Given the description of an element on the screen output the (x, y) to click on. 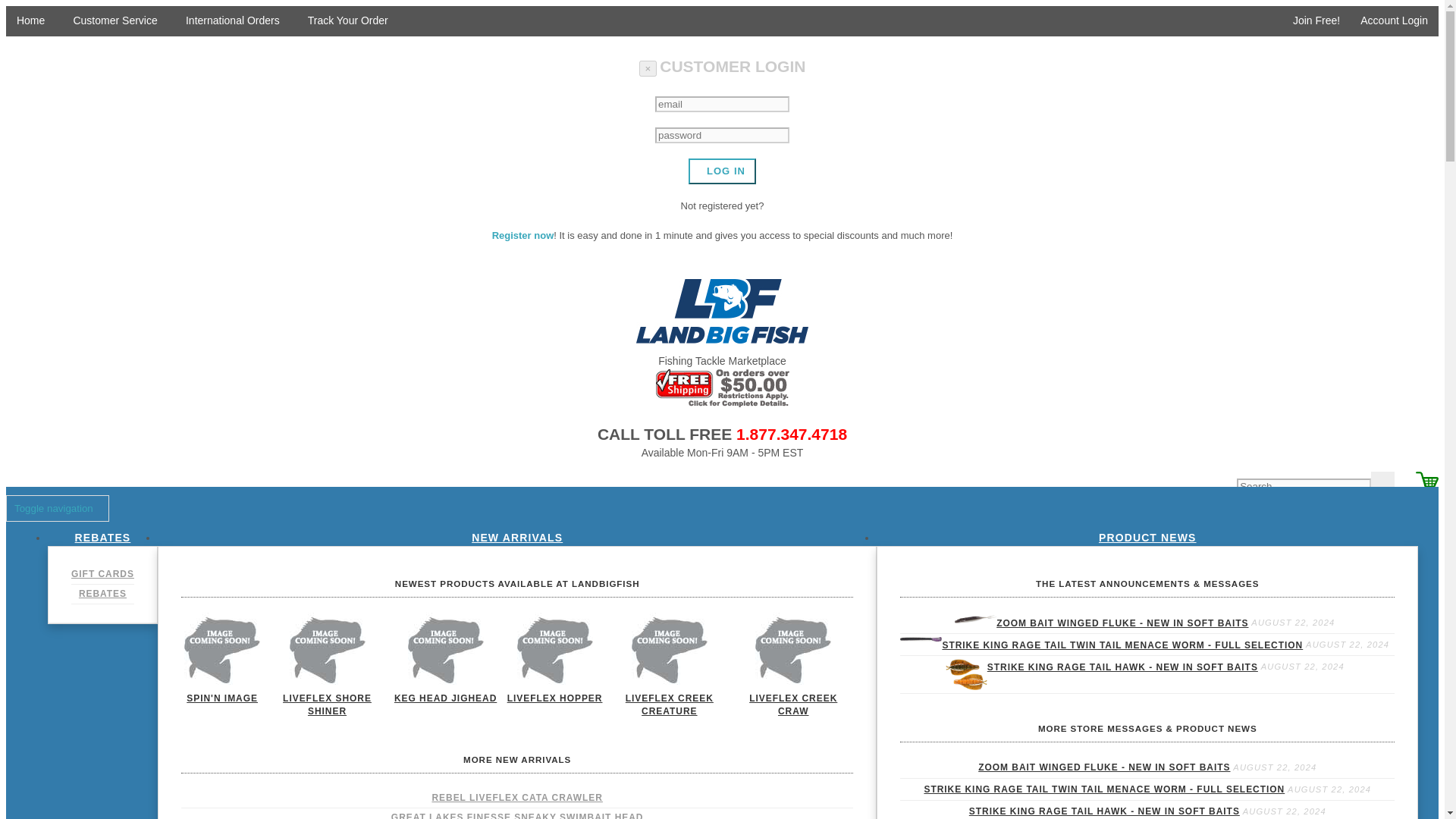
LIVEFLEX CREEK CRAW (793, 705)
LOG IN (721, 171)
Join Free (1310, 20)
International Orders (226, 20)
REBATES (102, 594)
GIFT CARDS (102, 574)
PRODUCT NEWS (1147, 537)
ZOOM BAIT WINGED FLUKE - NEW IN SOFT BAITS (1121, 623)
 Account Login (1389, 20)
